Given the description of an element on the screen output the (x, y) to click on. 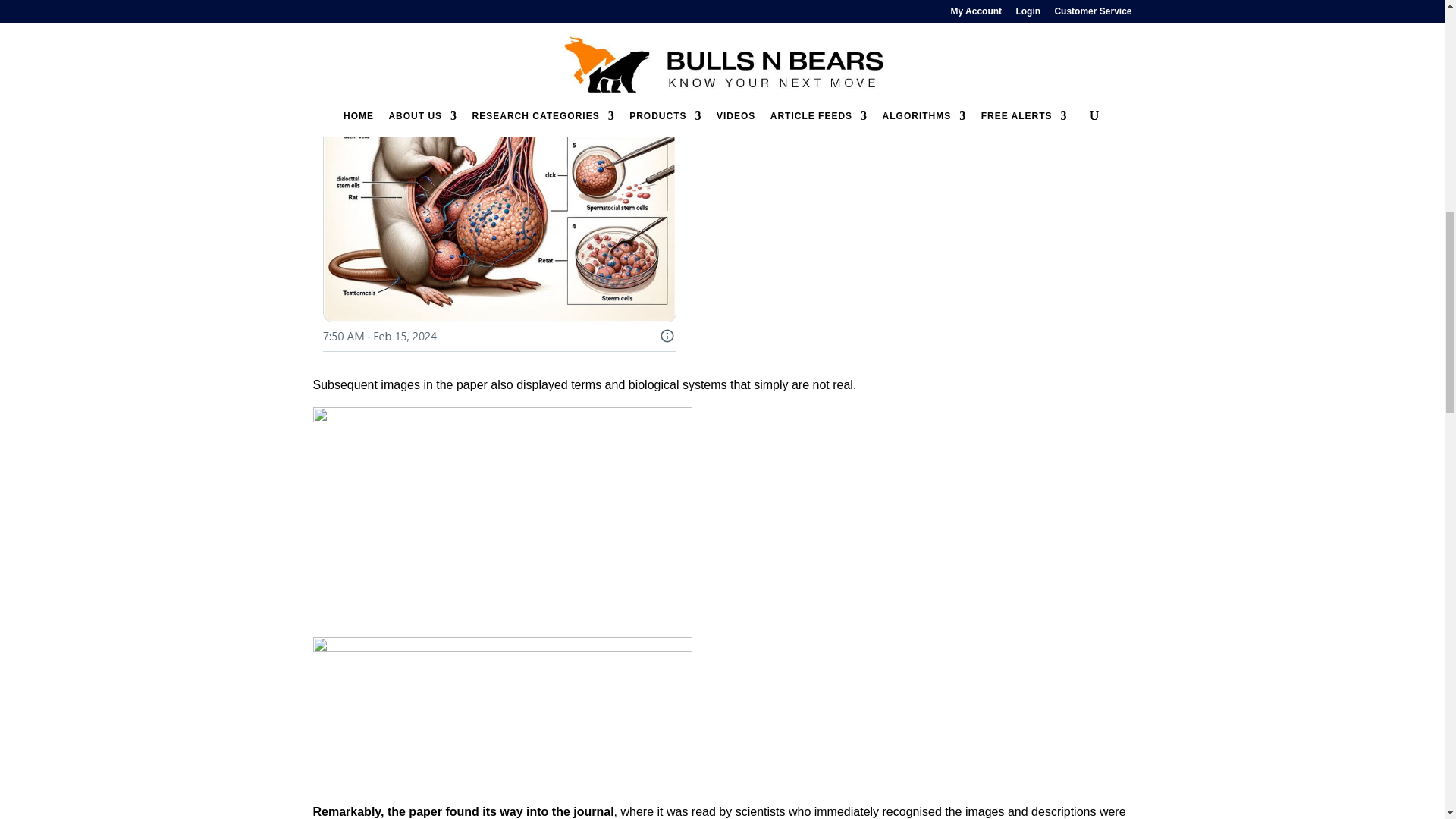
Tweet (498, 176)
